Given the description of an element on the screen output the (x, y) to click on. 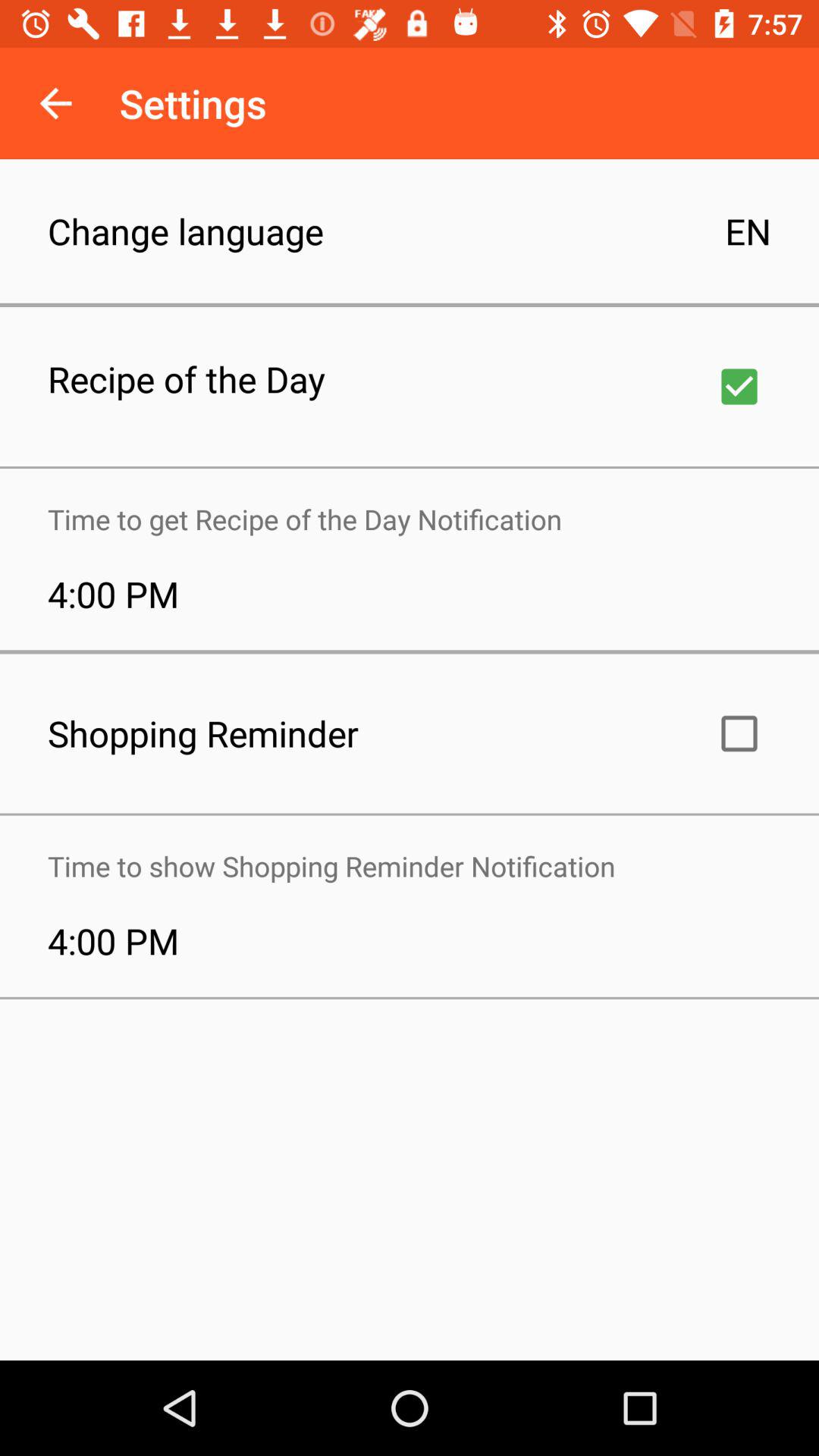
select the item to the left of settings app (55, 103)
